Given the description of an element on the screen output the (x, y) to click on. 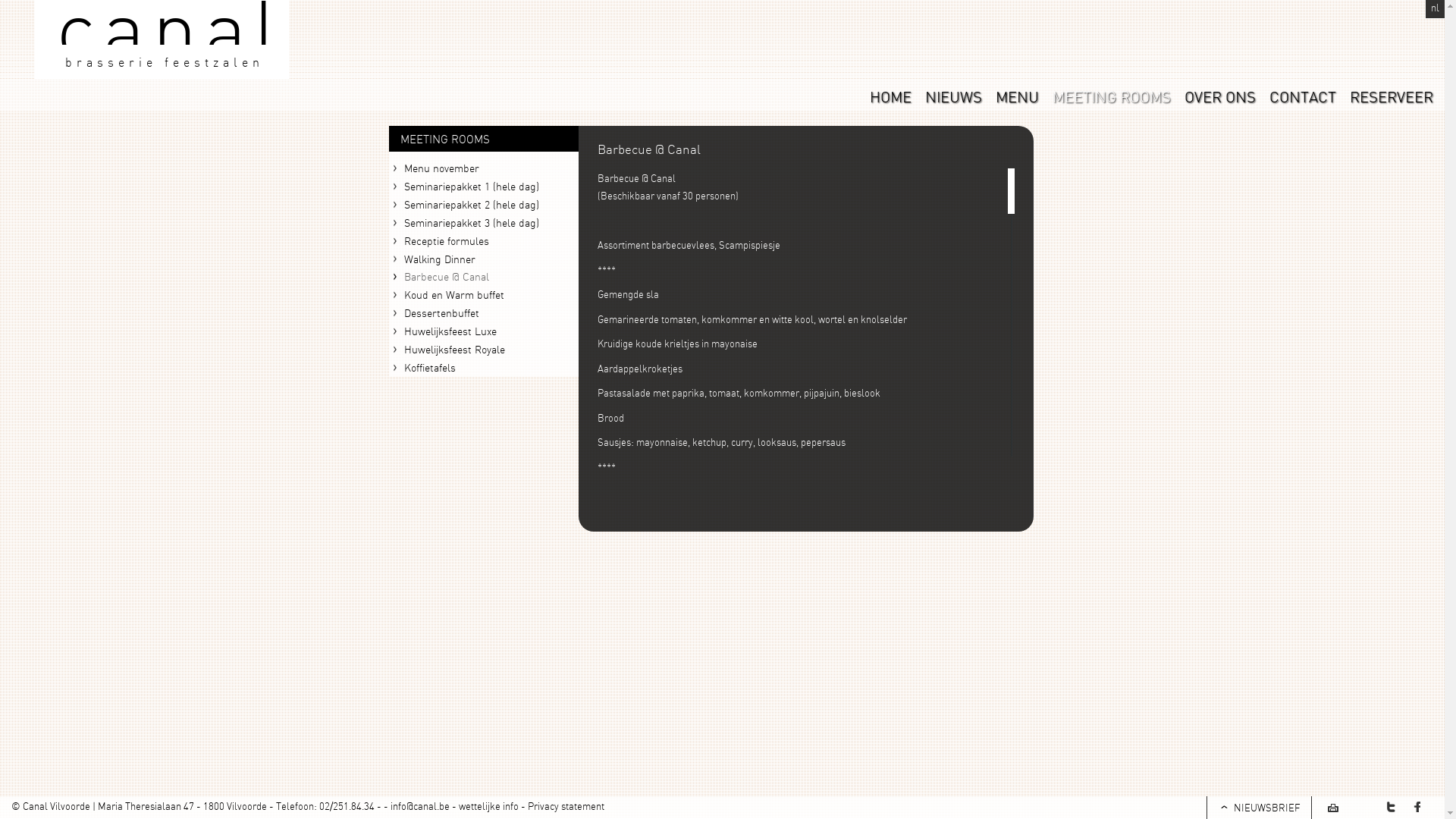
wettelijke info Element type: text (488, 806)
Seminariepakket 2 (hele dag) Element type: text (482, 204)
Seminariepakket 1 (hele dag) Element type: text (482, 186)
Huwelijksfeest Luxe Element type: text (482, 331)
OVER ONS Element type: text (1219, 96)
Seminariepakket 3 (hele dag) Element type: text (482, 222)
Koffietafels Element type: text (482, 367)
info@canal.be Element type: text (419, 806)
MENU Element type: text (1016, 96)
CONTACT Element type: text (1302, 96)
MEETING ROOMS Element type: text (1111, 96)
RESERVEER Element type: text (1391, 96)
Privacy statement Element type: text (565, 806)
NIEUWSBRIEF Element type: text (1258, 807)
Receptie formules Element type: text (482, 241)
NIEUWS Element type: text (953, 96)
Koud en Warm buffet Element type: text (482, 294)
Barbecue @ Canal Element type: text (482, 276)
Walking Dinner Element type: text (482, 259)
HOME Element type: text (890, 96)
Huwelijksfeest Royale Element type: text (482, 349)
Menu november Element type: text (482, 168)
Dessertenbuffet Element type: text (482, 313)
